Given the description of an element on the screen output the (x, y) to click on. 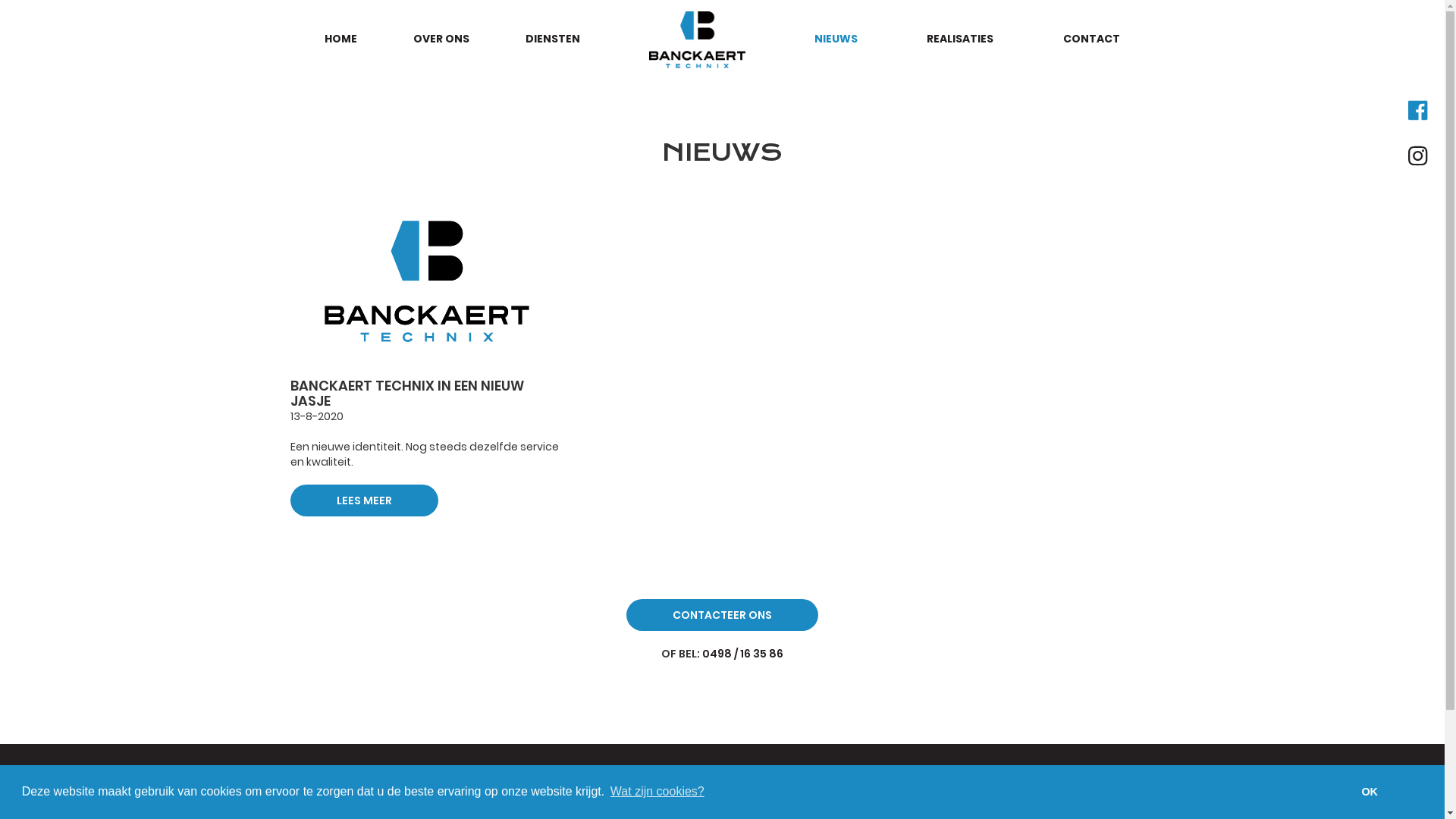
CONTACT Element type: text (1091, 38)
Wat zijn cookies? Element type: text (657, 791)
LEES MEER Element type: text (363, 500)
OK Element type: text (1369, 791)
OVER ONS Element type: text (441, 38)
0498 / 16 35 86 Element type: text (742, 653)
Home Element type: text (527, 807)
NIEUWS Element type: text (835, 38)
HOME Element type: text (340, 38)
REALISATIES Element type: text (960, 38)
DIENSTEN Element type: text (552, 38)
Privacy Disclaimer Element type: text (1004, 807)
CONTACTEER ONS Element type: text (722, 614)
